Given the description of an element on the screen output the (x, y) to click on. 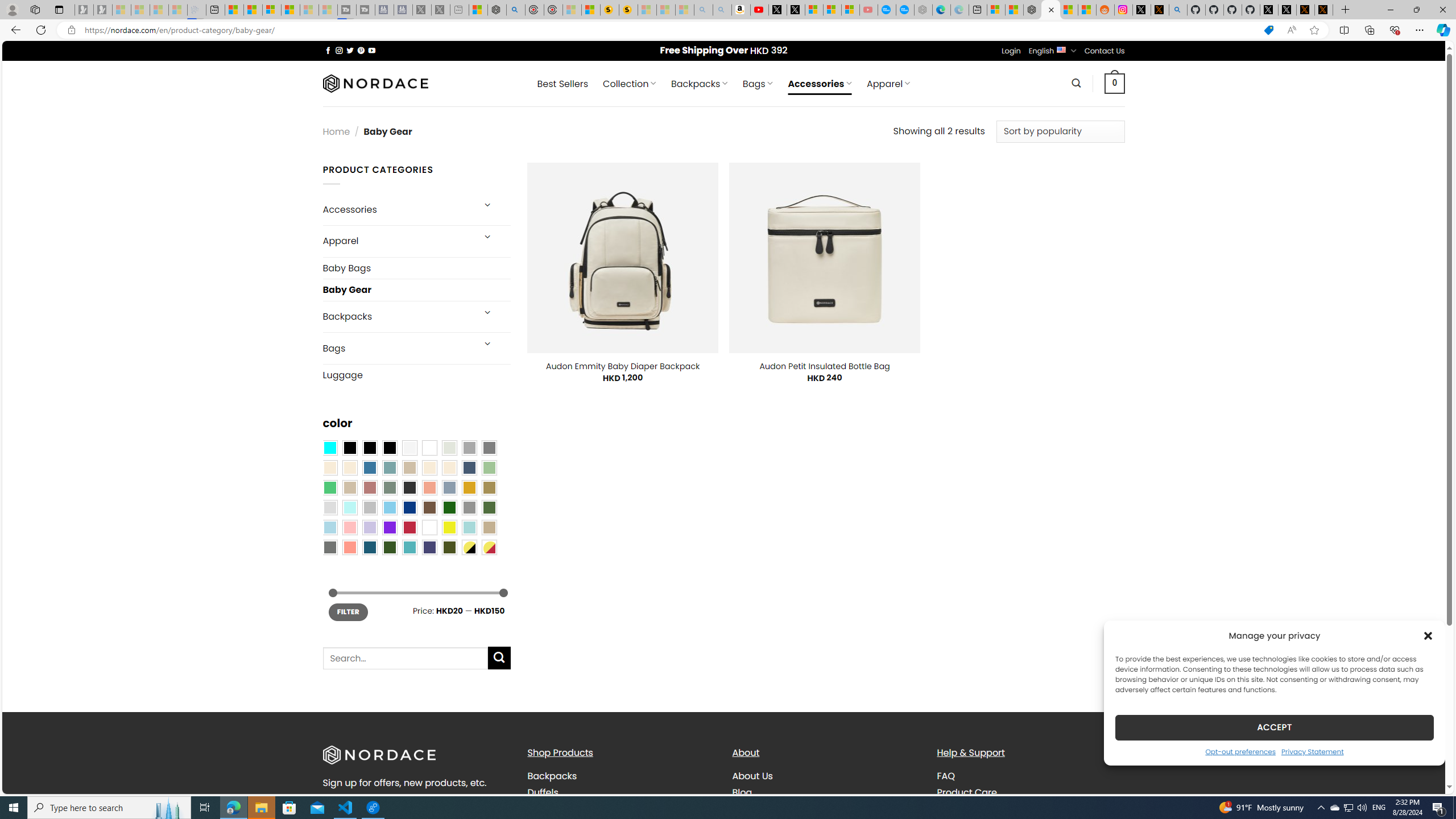
Yellow (449, 527)
Dusty Blue (449, 487)
Dark Green (449, 507)
Coral (429, 487)
Clear (429, 447)
Light Blue (329, 527)
Blue Sage (389, 467)
Peach Pink (349, 547)
Privacy Statement (1312, 750)
